Given the description of an element on the screen output the (x, y) to click on. 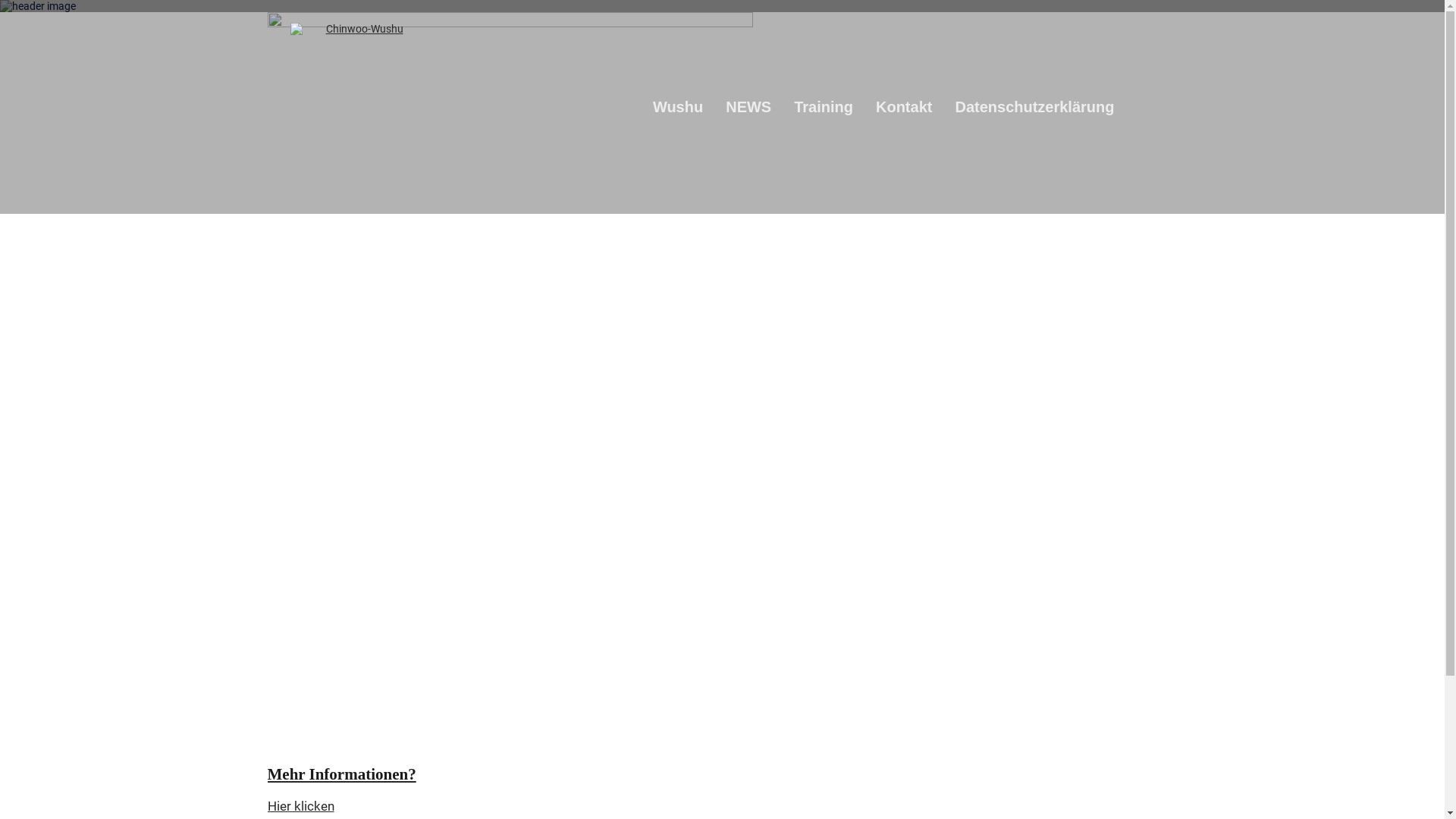
Kontakt Element type: text (914, 106)
NEWS Element type: text (759, 106)
Training Element type: text (834, 106)
Wushu Element type: text (688, 106)
